Given the description of an element on the screen output the (x, y) to click on. 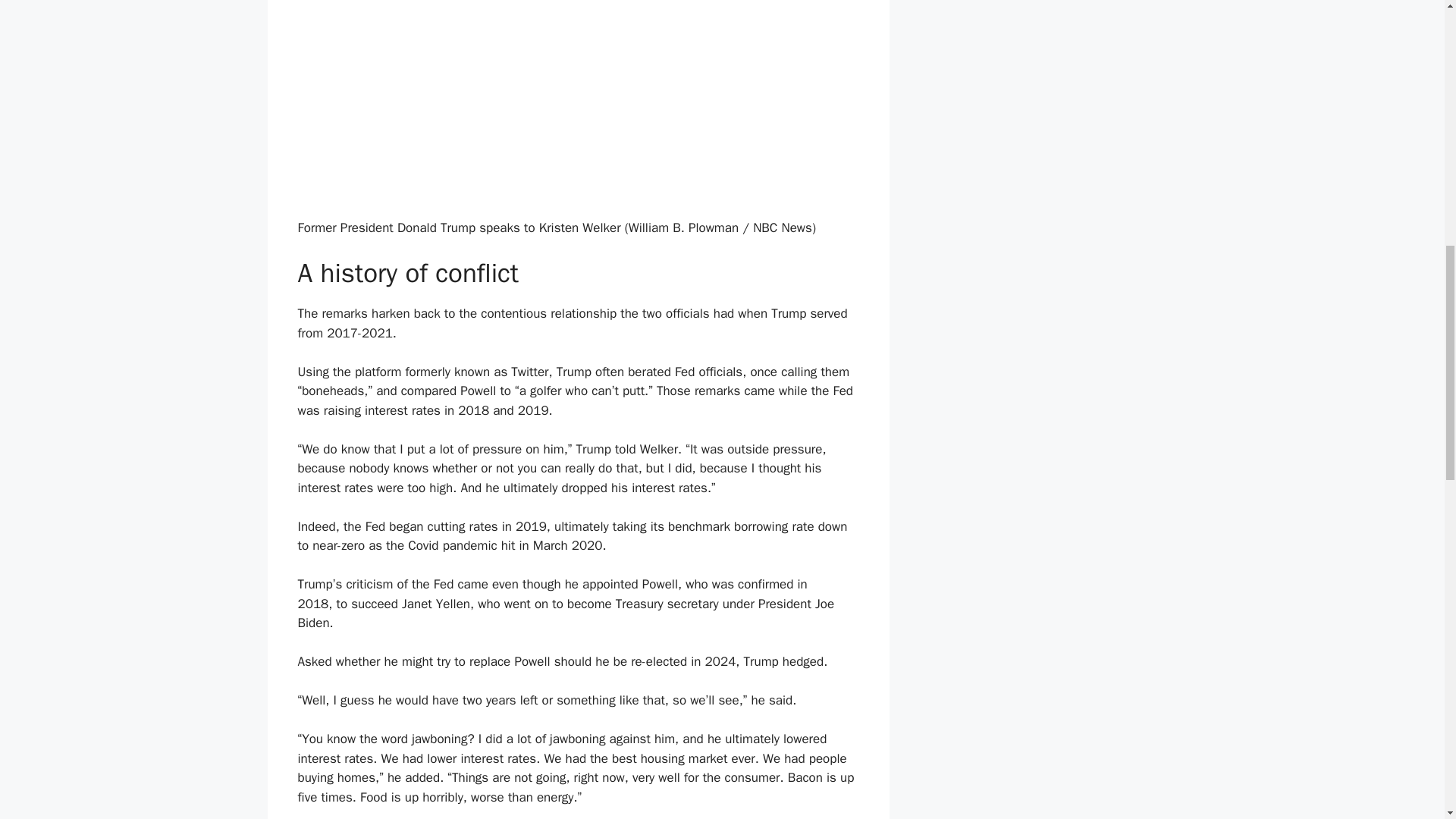
Scroll back to top (1406, 720)
